Given the description of an element on the screen output the (x, y) to click on. 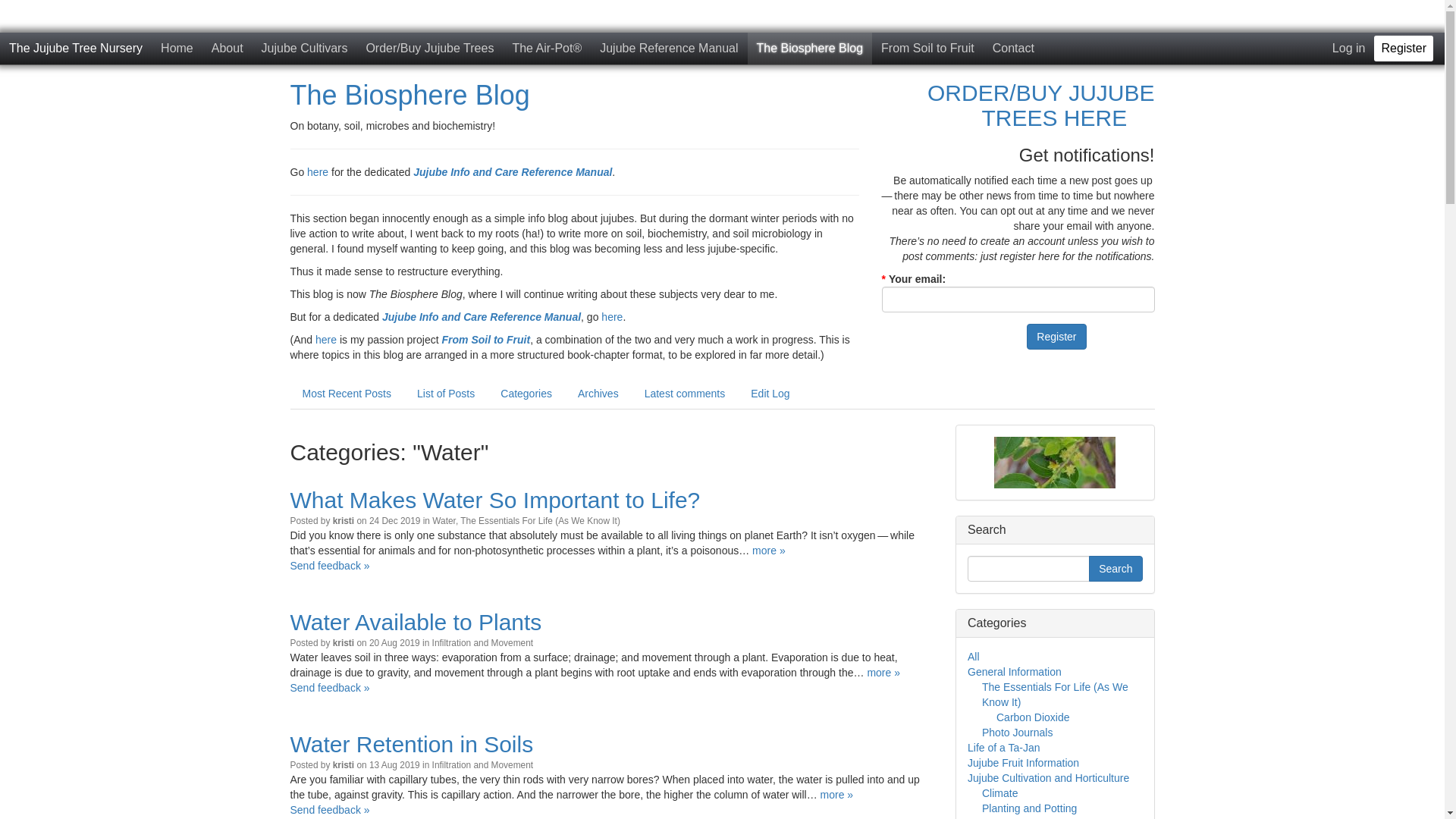
Infiltration and Movement Element type: text (482, 764)
What Makes Water So Important to Life? Element type: text (494, 499)
Log in Element type: text (1348, 48)
The Essentials For Life (As We Know It) Element type: text (540, 520)
Jujube Cultivation and Horticulture Element type: text (1048, 777)
The Biosphere Blog Element type: text (409, 94)
Archives Element type: text (597, 393)
Register Element type: text (1055, 336)
Jujube Reference Manual Element type: text (668, 48)
Most Recent Posts Element type: text (346, 393)
Life of a Ta-Jan Element type: text (1003, 747)
Jujube Info and Care Reference Manual Element type: text (481, 316)
Water Available to Plants Element type: text (415, 621)
here Element type: text (317, 172)
The Biosphere Blog Element type: text (809, 48)
Search Element type: text (1115, 568)
Contact Element type: text (1013, 48)
All Element type: text (973, 656)
Jujube Cultivars Element type: text (304, 48)
List of Posts Element type: text (445, 393)
Planting and Potting Element type: text (1029, 808)
Infiltration and Movement Element type: text (482, 642)
ORDER/BUY JUJUBE TREES HERE Element type: text (1040, 105)
General Information Element type: text (1014, 671)
Water Retention in Soils Element type: text (411, 743)
The Essentials For Life (As We Know It) Element type: text (1055, 694)
Carbon Dioxide Element type: text (1033, 717)
Order/Buy Jujube Trees Element type: text (429, 48)
Jujube Fruit Information Element type: text (1023, 762)
here Element type: text (325, 339)
About Element type: text (227, 48)
The Jujube Tree Nursery Element type: text (75, 48)
Register Element type: text (1403, 48)
Home Element type: text (176, 48)
Water Element type: text (443, 520)
Edit Log Element type: text (769, 393)
here Element type: text (611, 316)
Climate Element type: text (999, 793)
Latest comments Element type: text (684, 393)
From Soil to Fruit Element type: text (485, 339)
Photo Journals Element type: text (1017, 732)
From Soil to Fruit Element type: text (927, 48)
Categories Element type: text (526, 393)
Jujube Info and Care Reference Manual Element type: text (512, 172)
